Given the description of an element on the screen output the (x, y) to click on. 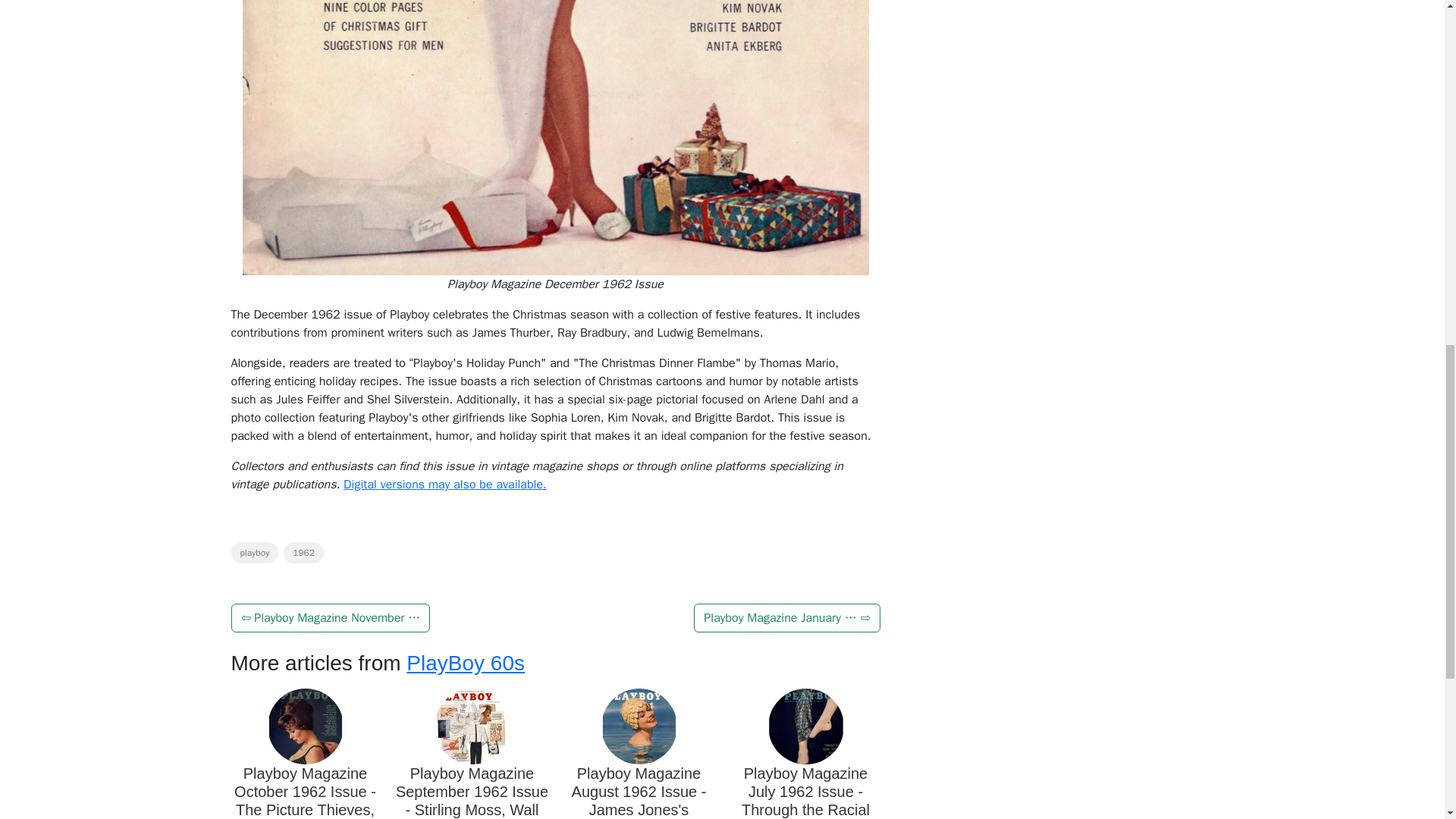
1962 (303, 552)
playboy (254, 552)
PlayBoy 60s (465, 662)
Digital versions may also be available. (445, 484)
